Given the description of an element on the screen output the (x, y) to click on. 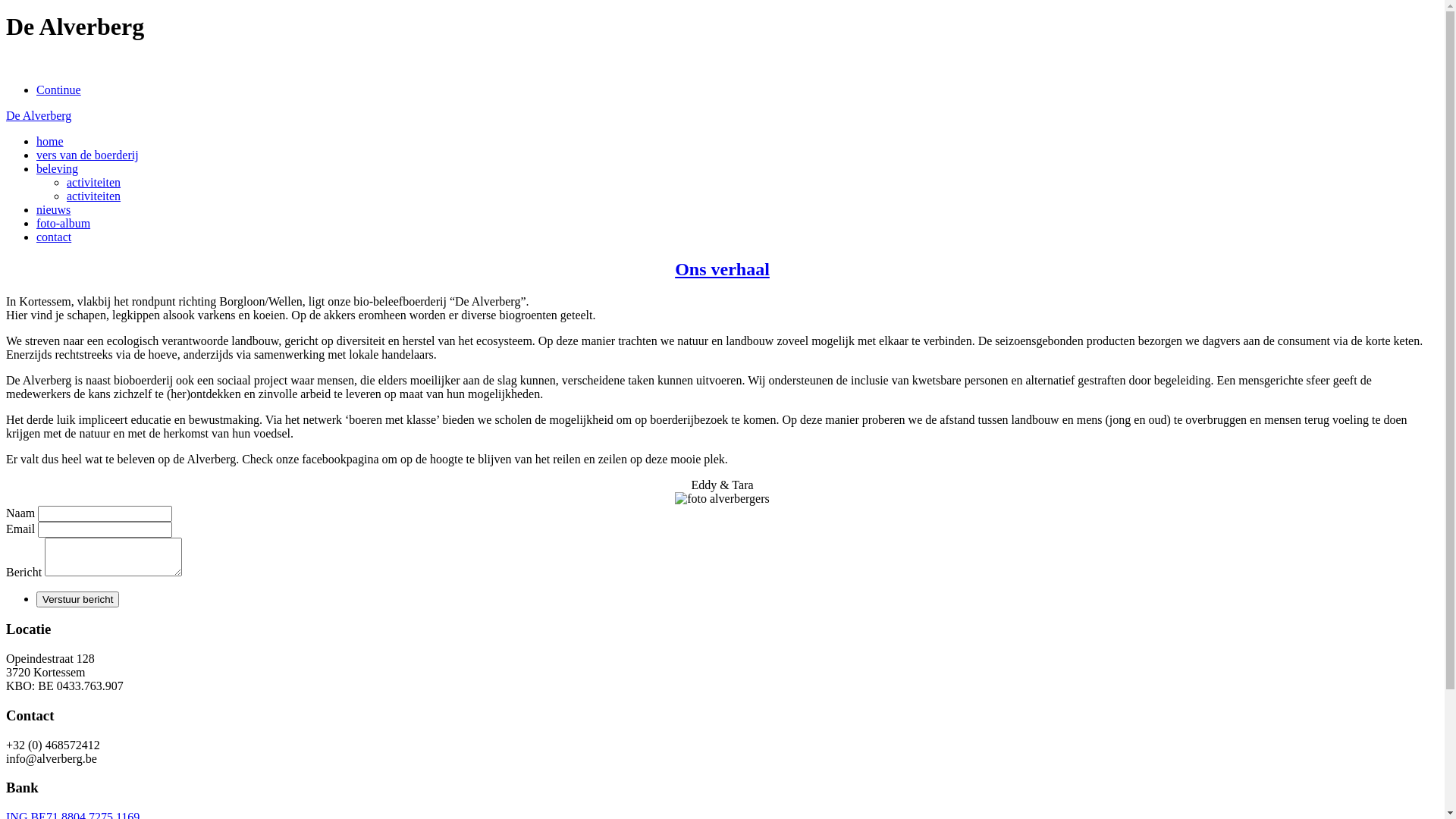
Ons verhaal Element type: text (721, 269)
Verstuur bericht Element type: text (77, 599)
activiteiten Element type: text (93, 195)
home Element type: text (49, 140)
vers van de boerderij Element type: text (87, 154)
De Alverberg Element type: text (38, 115)
foto-album Element type: text (63, 222)
Continue Element type: text (58, 89)
beleving Element type: text (57, 168)
activiteiten Element type: text (93, 181)
nieuws Element type: text (53, 209)
contact Element type: text (53, 236)
